Given the description of an element on the screen output the (x, y) to click on. 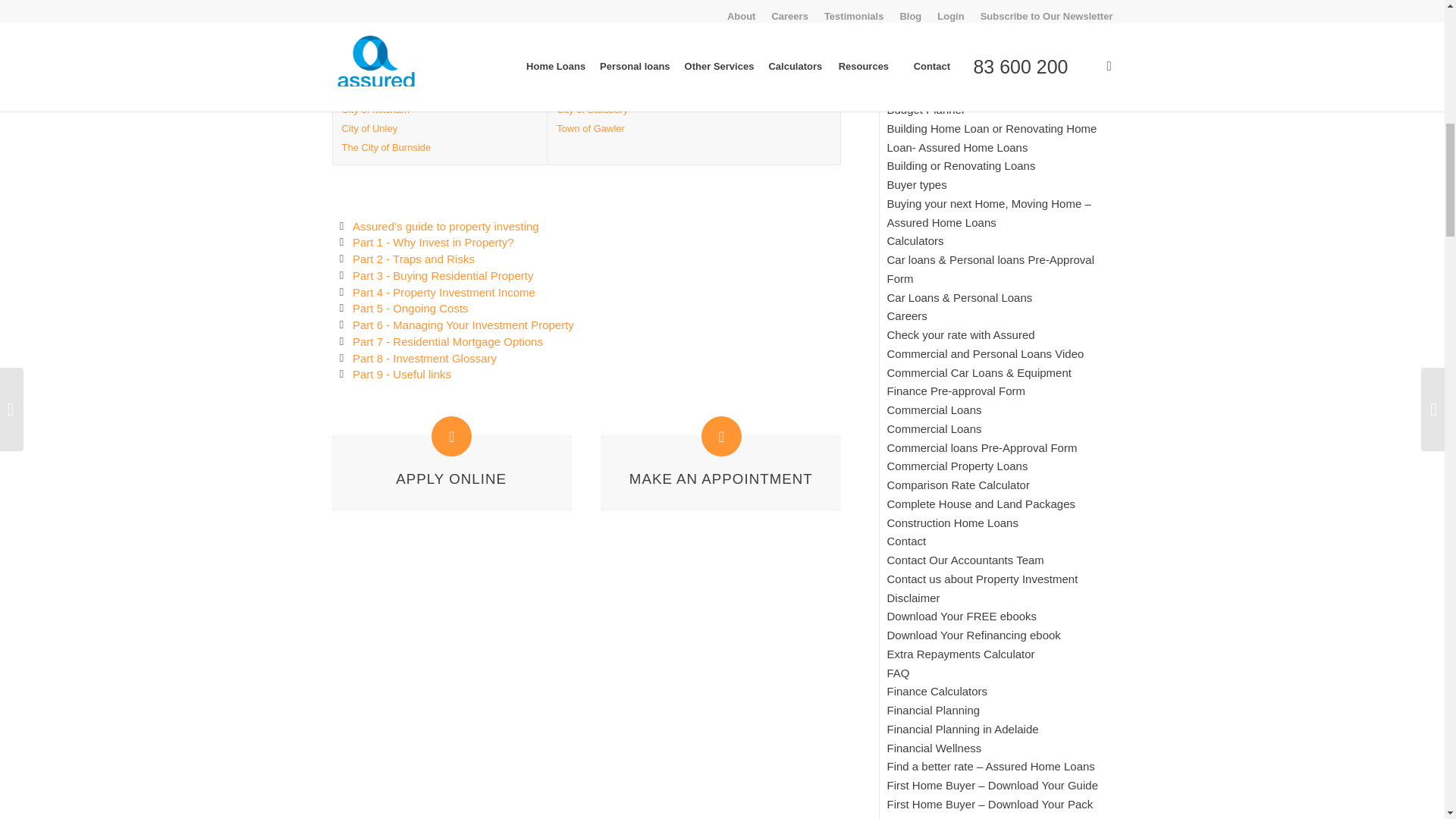
Part 1 - Why Invest in Property? (432, 241)
Part 2 - Traps and Risks (413, 258)
Make an appointment (720, 478)
Part 4 - Property Investment Income (443, 291)
Part 7 - Residential Mortgage Options (447, 341)
Part 3 - Buying Residential Property (442, 275)
Part 6 - Managing Your Investment Property (462, 324)
Part 9 - Useful links (401, 373)
Part 5 - Ongoing Costs (410, 308)
Part 8 - Investment Glossary (424, 358)
